Given the description of an element on the screen output the (x, y) to click on. 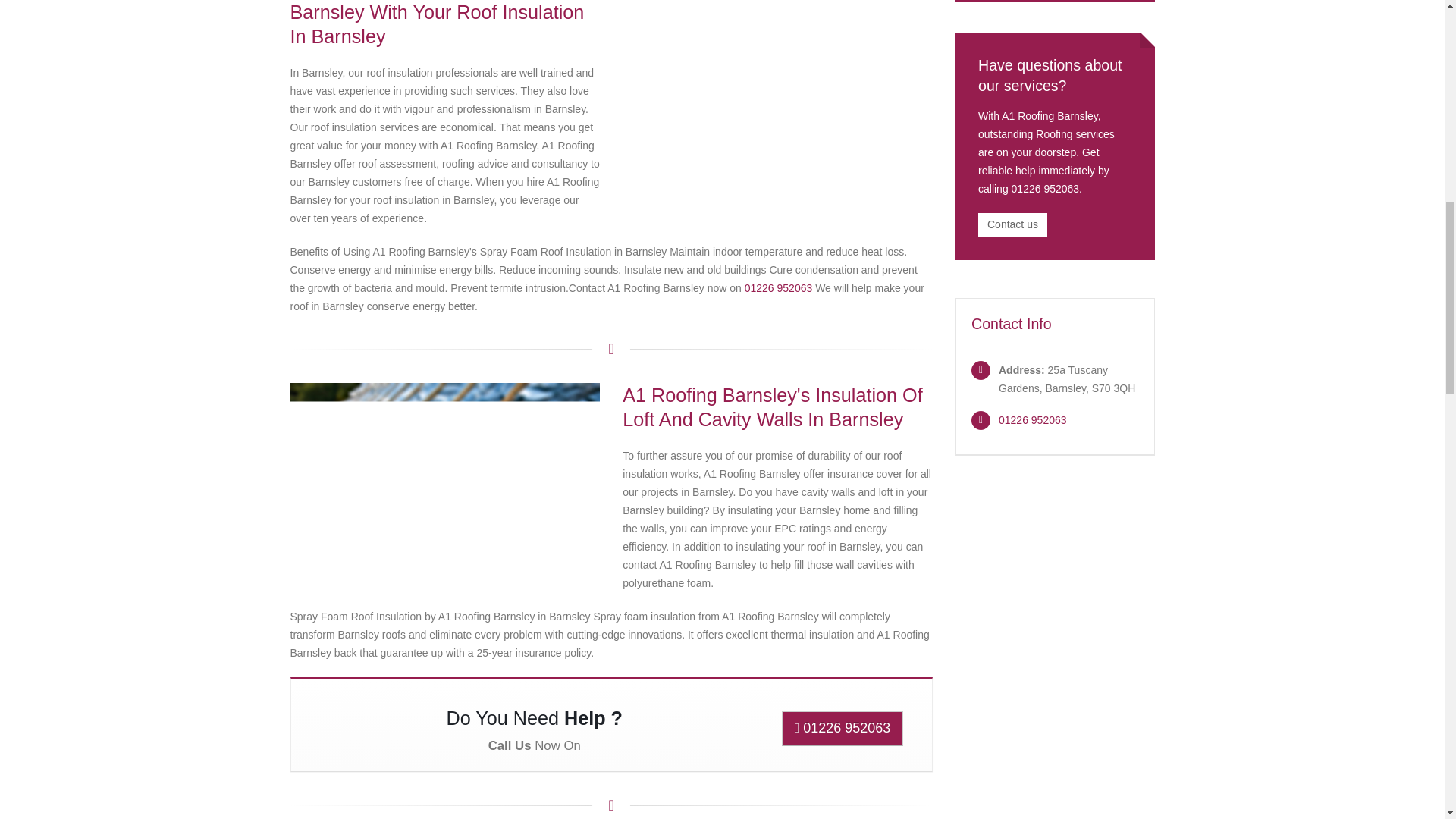
01226 952063 (778, 287)
